Given the description of an element on the screen output the (x, y) to click on. 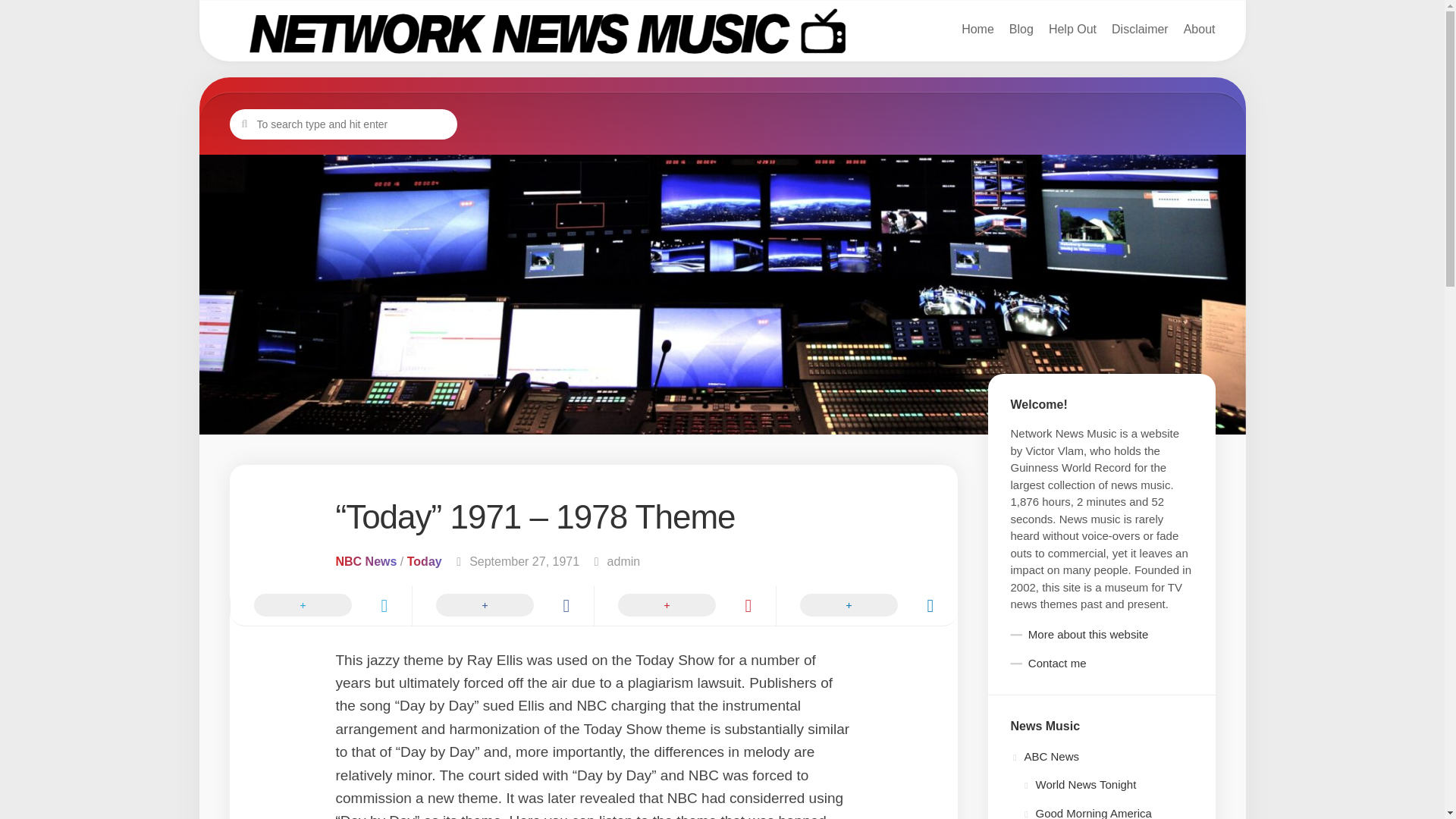
To search type and hit enter (342, 123)
Home (977, 29)
Posts by admin (623, 561)
To search type and hit enter (342, 123)
Share on Facebook (721, 31)
Help Out (501, 605)
Share on X (1072, 29)
Disclaimer (319, 605)
Share on LinkedIn (1140, 29)
About (865, 605)
Blog (1199, 29)
Share on Pinterest (1021, 29)
